Given the description of an element on the screen output the (x, y) to click on. 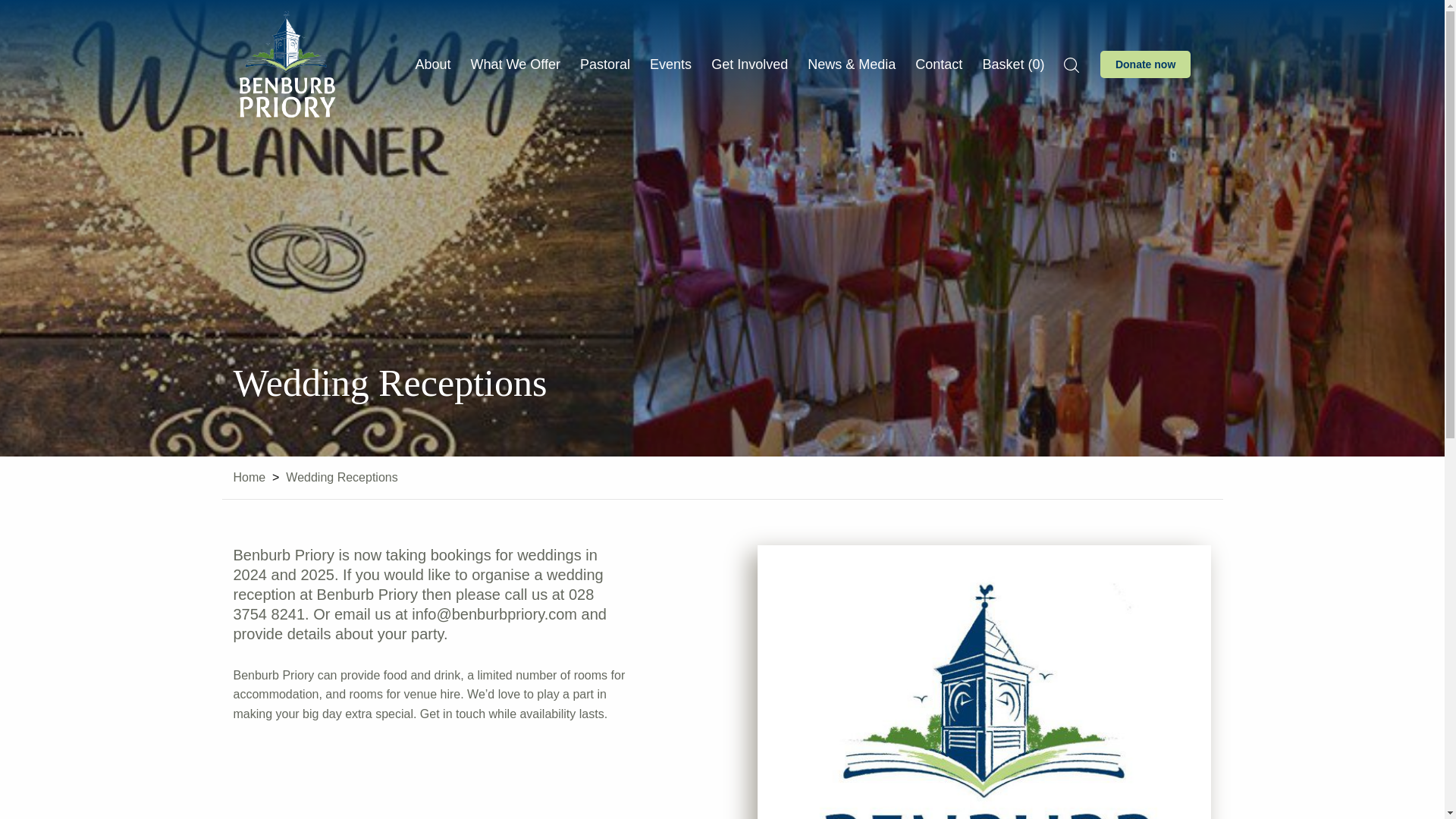
Benburb Priory (285, 63)
What We Offer (515, 64)
About (432, 64)
Basket (1012, 64)
